Given the description of an element on the screen output the (x, y) to click on. 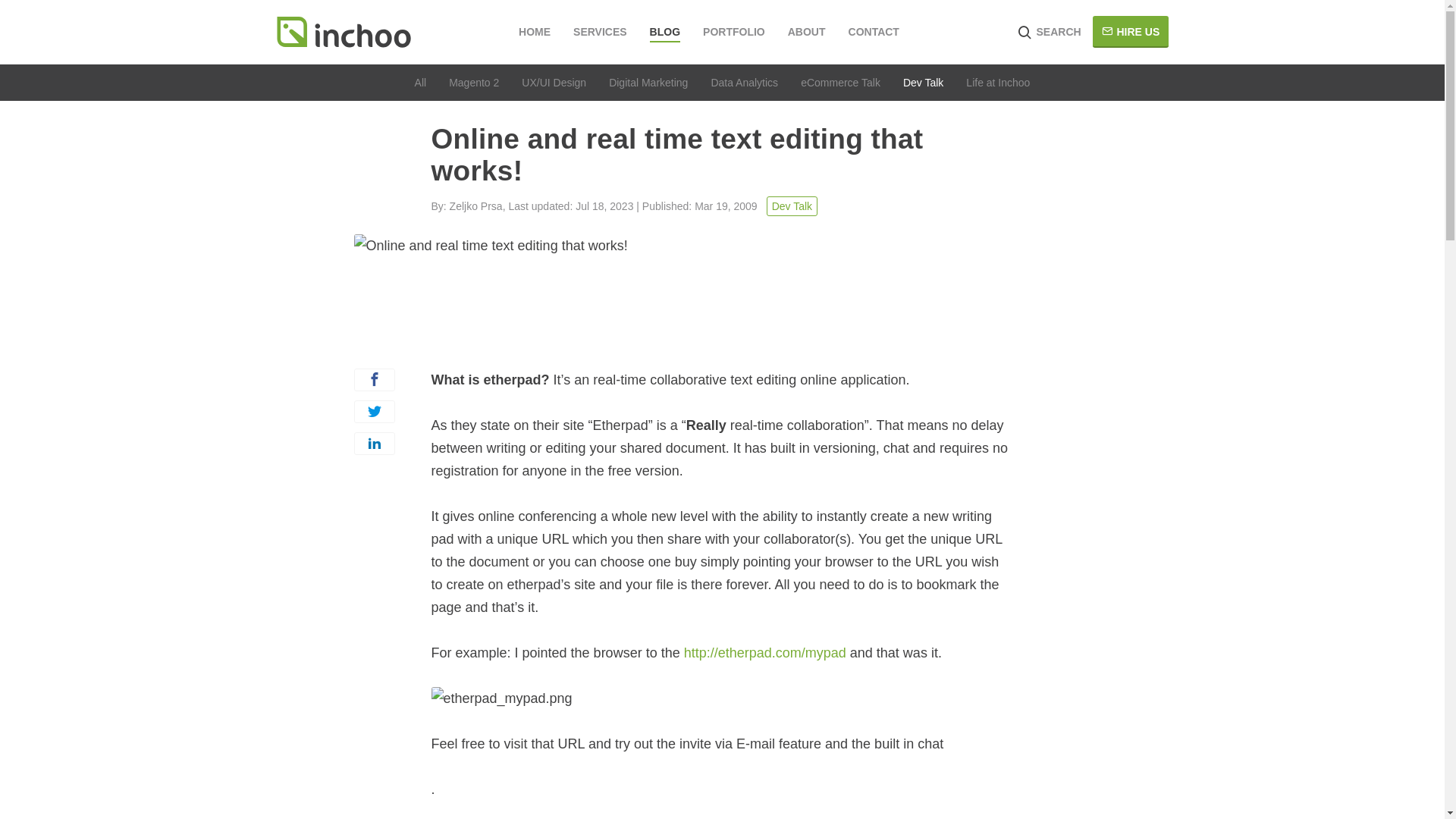
SEARCH (1045, 31)
Dev Talk (791, 206)
Digital Marketing (647, 82)
Data Analytics (743, 82)
Life at Inchoo (997, 82)
News at Inchoo (997, 82)
Digital Marketing Articles (647, 82)
Online and real time text editing that works! (721, 292)
HOME (534, 31)
Inchoo (343, 31)
Twitter (373, 411)
BLOG (664, 32)
Facebook (373, 379)
eCommerce Talk Articles (840, 82)
ABOUT (806, 31)
